Given the description of an element on the screen output the (x, y) to click on. 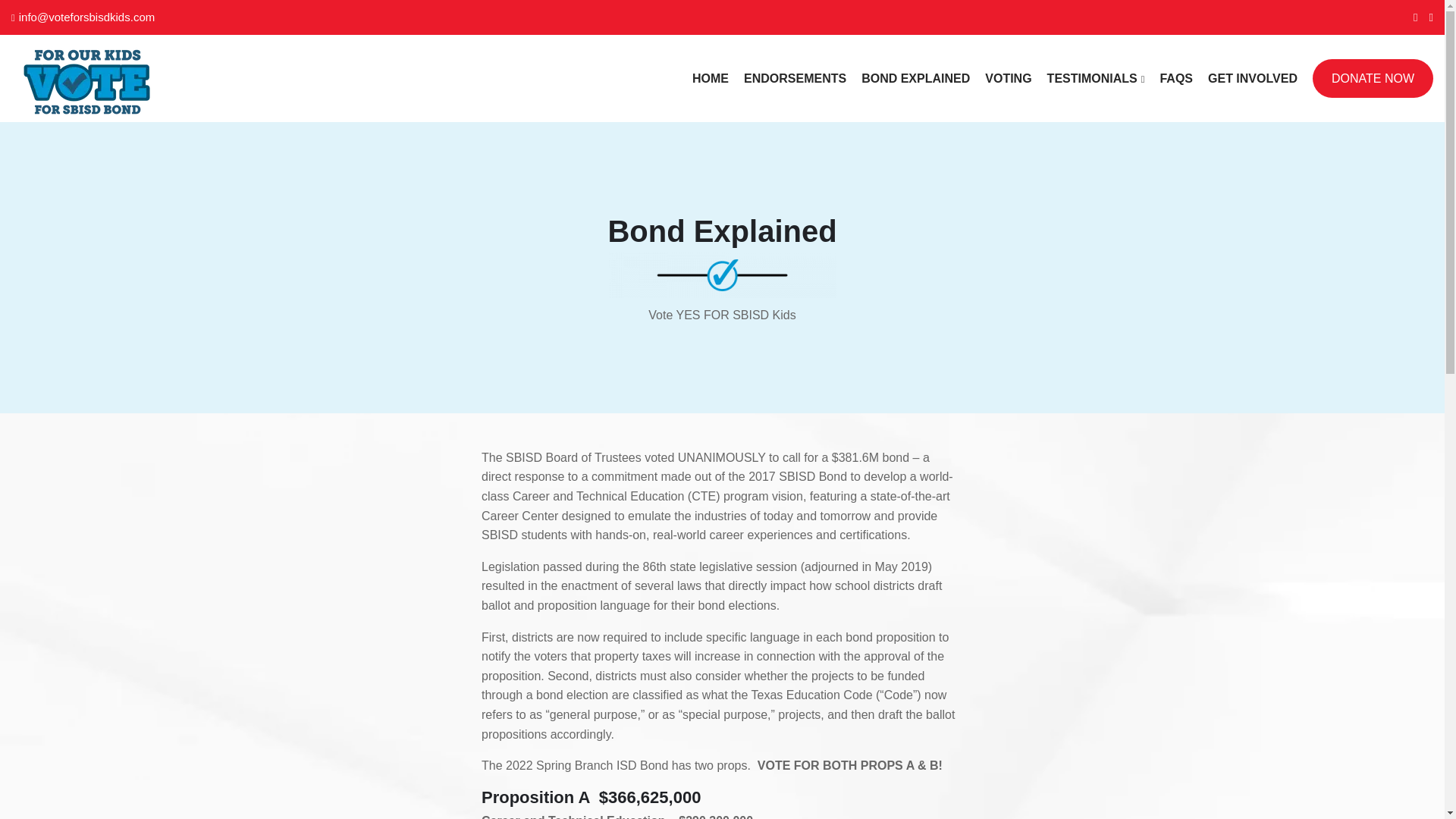
Vote for SBISD Kids (180, 81)
FAQS (1175, 78)
GET INVOLVED (1252, 78)
BOND EXPLAINED (915, 78)
HOME (711, 78)
VOTING (1007, 78)
TESTIMONIALS (1095, 78)
ENDORSEMENTS (794, 78)
DONATE NOW (1372, 78)
